Given the description of an element on the screen output the (x, y) to click on. 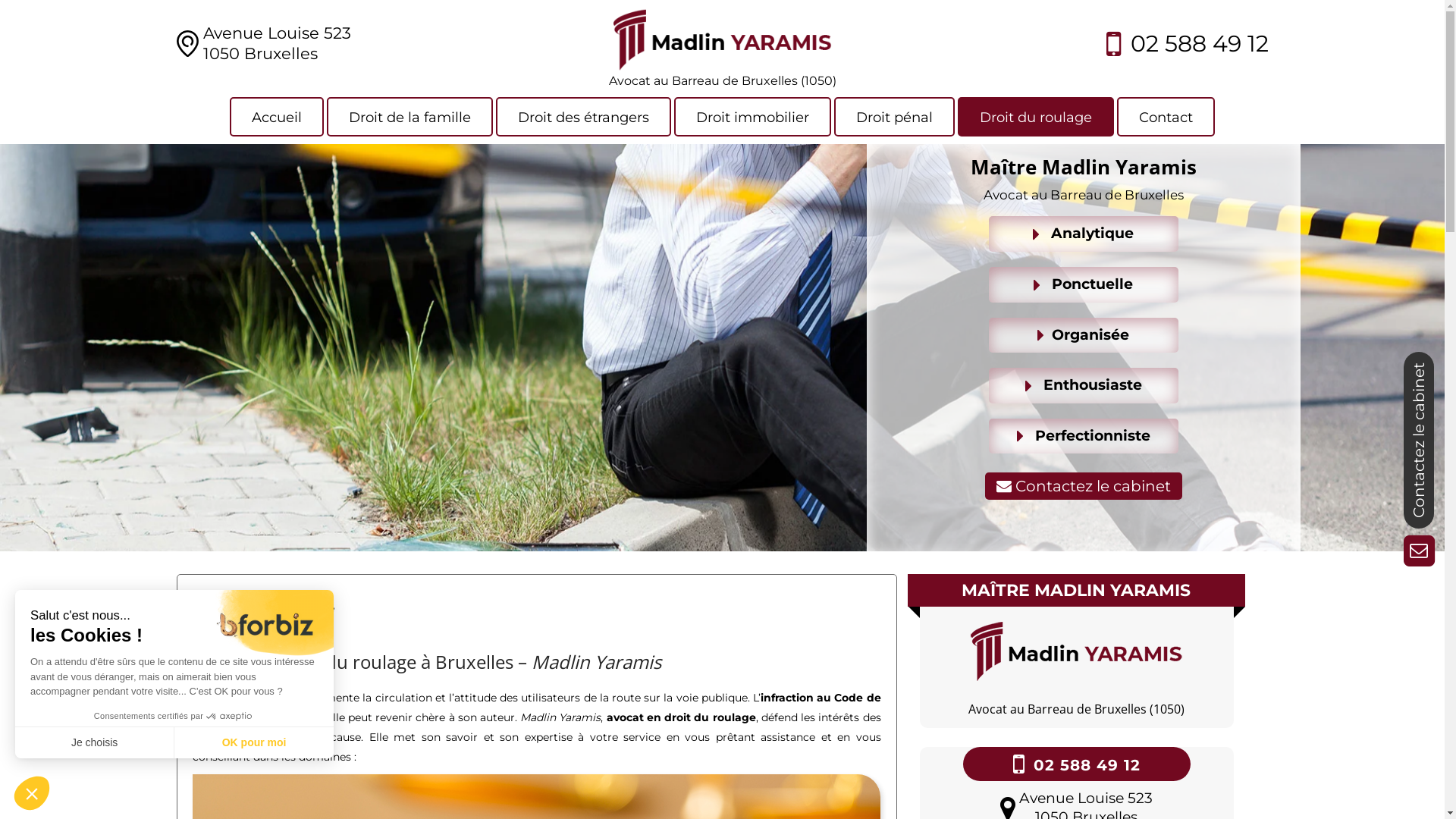
Madlin YARAMIS Element type: hover (721, 37)
02 588 49 12 Element type: text (1198, 43)
Contact Element type: text (1165, 116)
Accueil Element type: text (276, 116)
02 588 49 12 Element type: text (1085, 765)
Droit de la famille Element type: text (409, 116)
Droit du roulage Element type: text (1035, 116)
Contactez le cabinet Element type: text (1083, 485)
Droit immobilier Element type: text (752, 116)
